Given the description of an element on the screen output the (x, y) to click on. 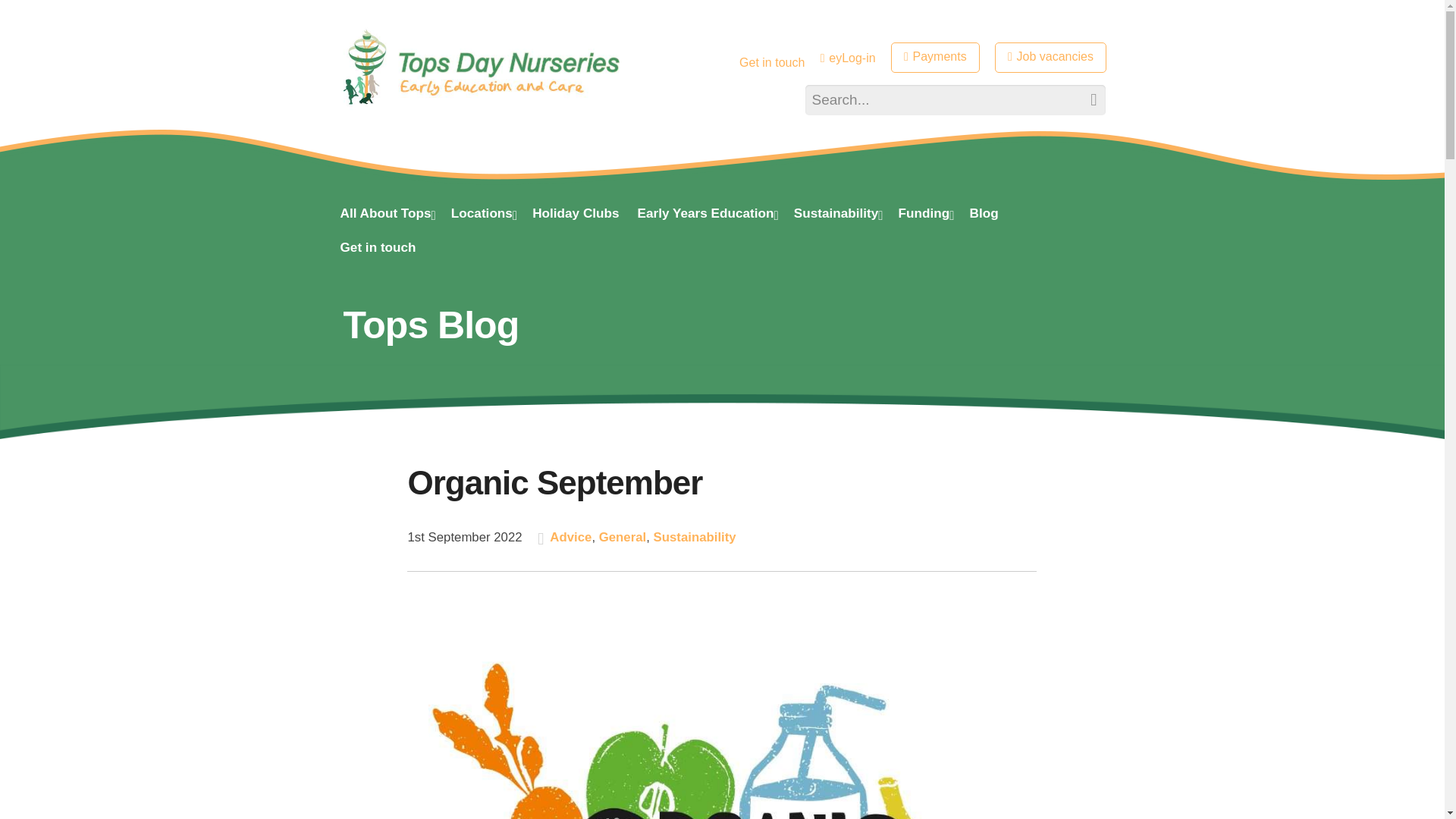
Search (1085, 100)
Job vacancies (1050, 57)
All About Tops (385, 214)
Search (1085, 100)
Get in touch (772, 62)
eyLog-in (848, 57)
Payments (935, 57)
Search (1085, 100)
Locations (482, 214)
